Given the description of an element on the screen output the (x, y) to click on. 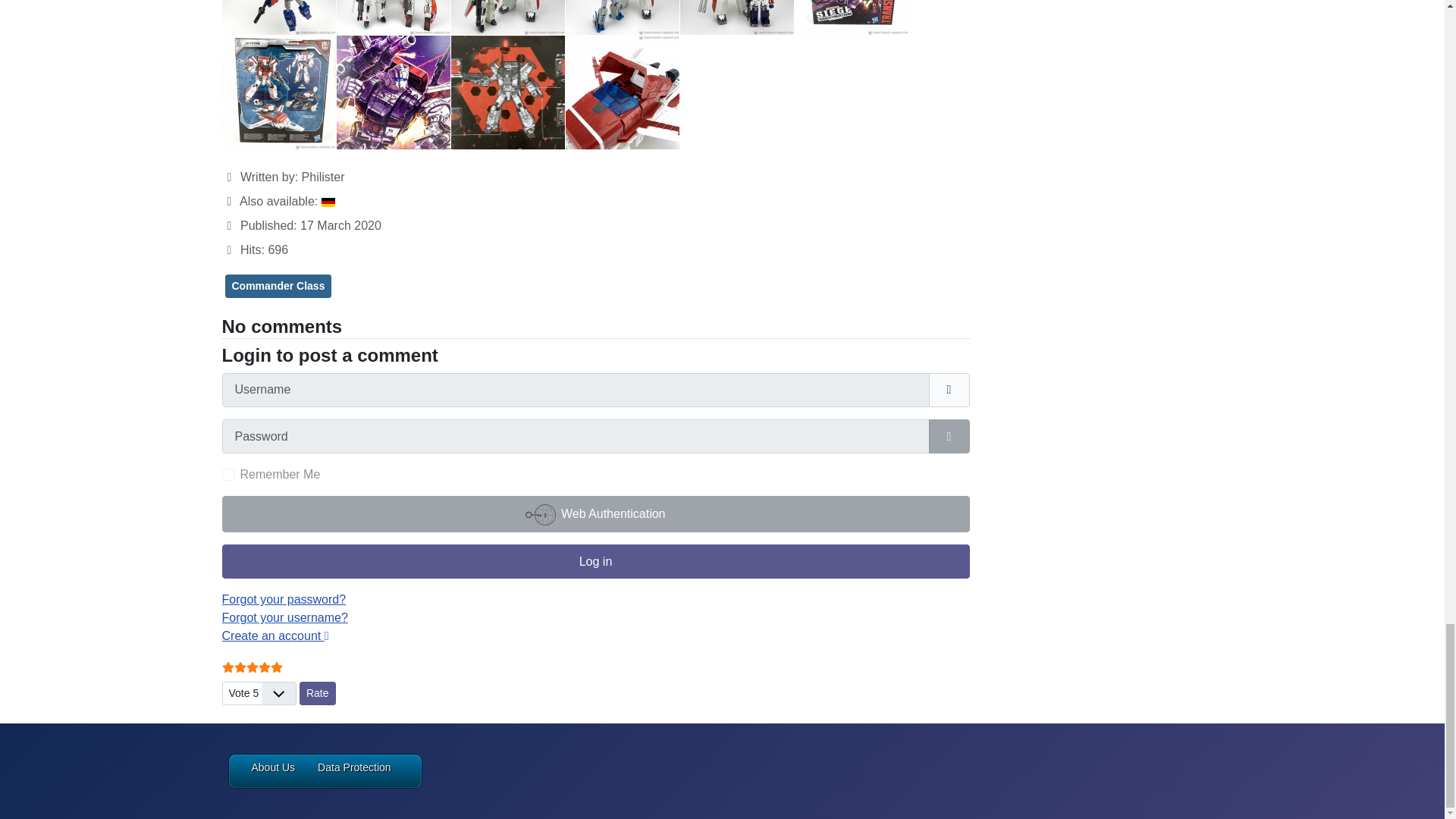
yes (226, 474)
Rate (317, 693)
